Given the description of an element on the screen output the (x, y) to click on. 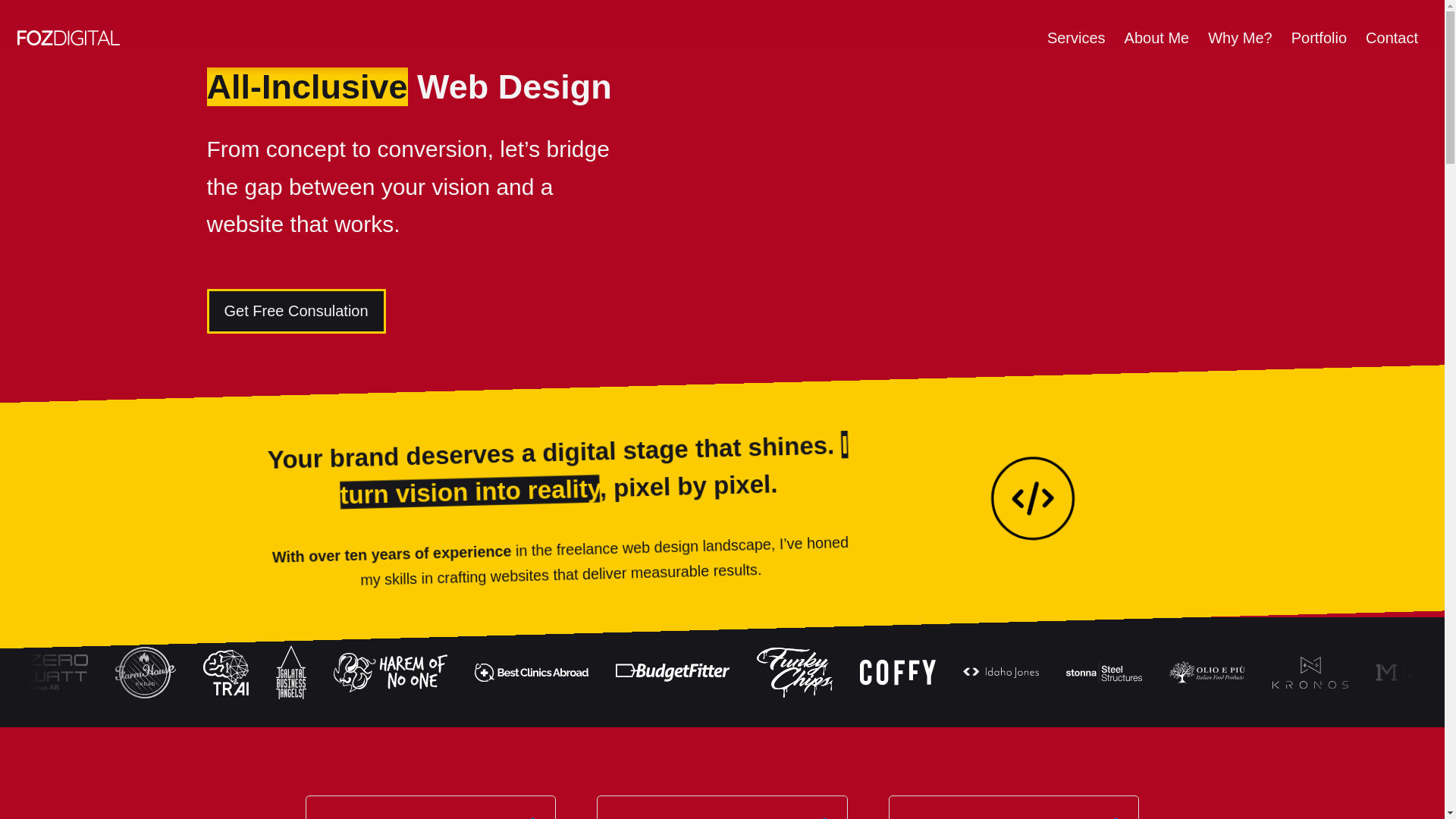
About Me (1156, 37)
Portfolio (1318, 37)
Skip to content (15, 7)
Get Free Consulation (295, 311)
Contact (1392, 37)
Why Me? (1239, 37)
Services (1075, 37)
